Given the description of an element on the screen output the (x, y) to click on. 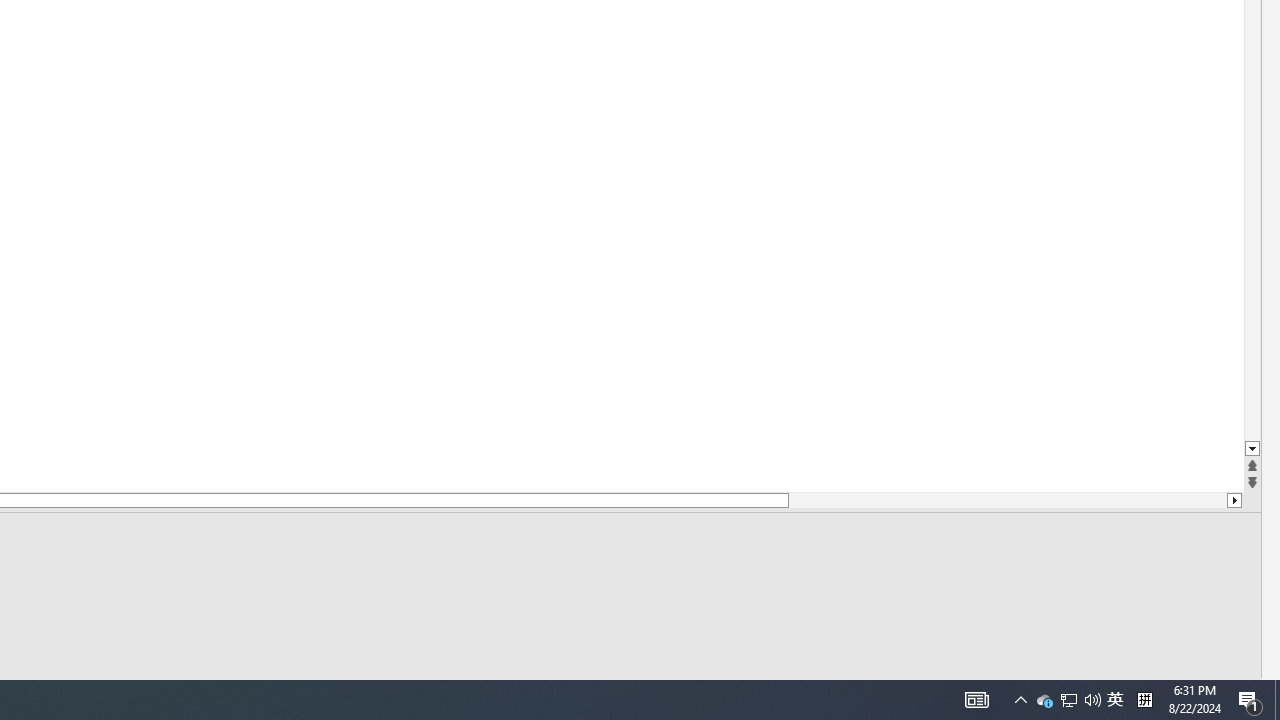
Menu On (892, 691)
Slide Show Previous On (860, 691)
Slide Show Next On (924, 691)
